Given the description of an element on the screen output the (x, y) to click on. 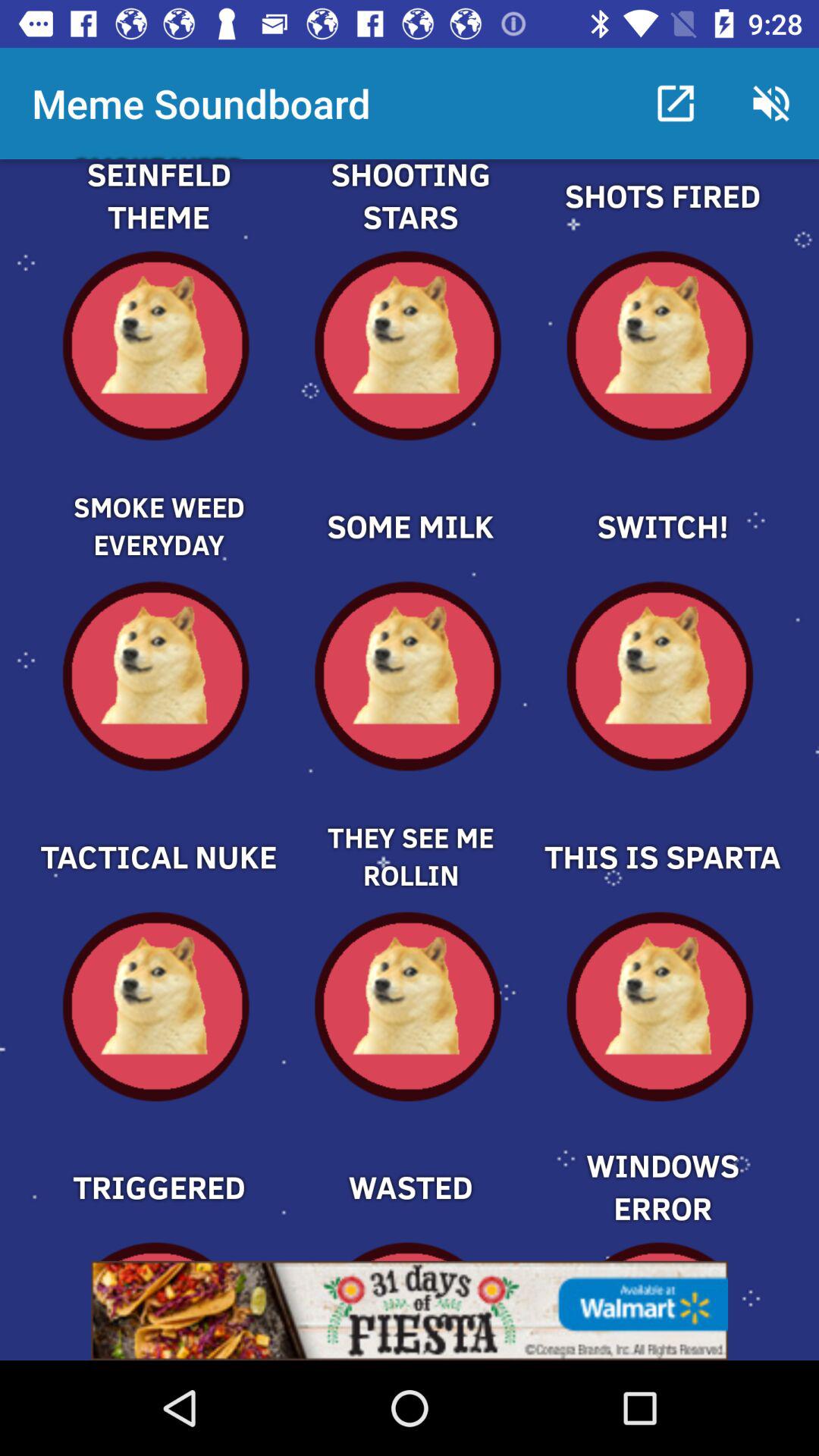
select one part of theme (157, 214)
